Given the description of an element on the screen output the (x, y) to click on. 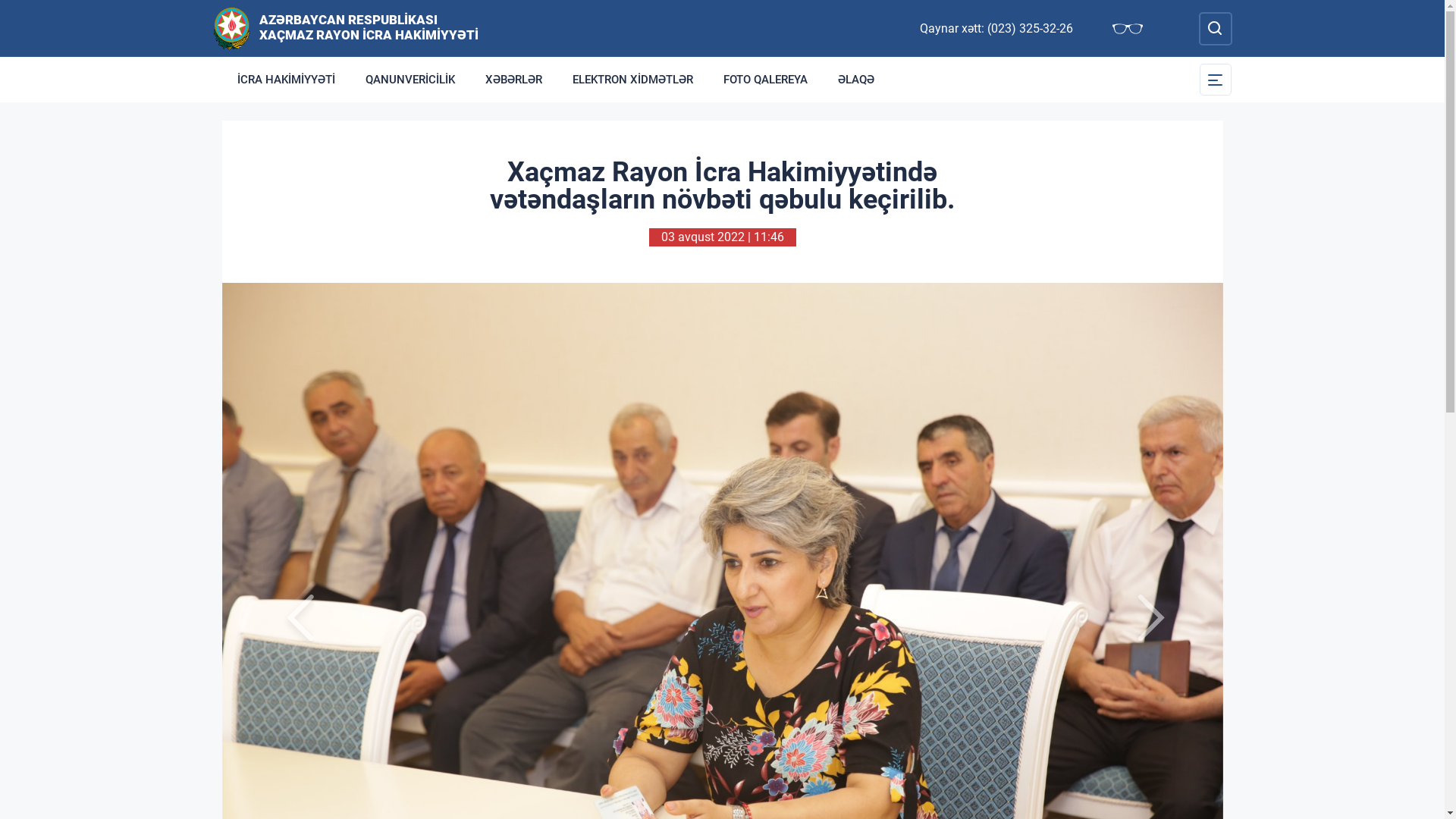
FOTO QALEREYA Element type: text (765, 79)
QANUNVERICILIK Element type: text (410, 79)
